Given the description of an element on the screen output the (x, y) to click on. 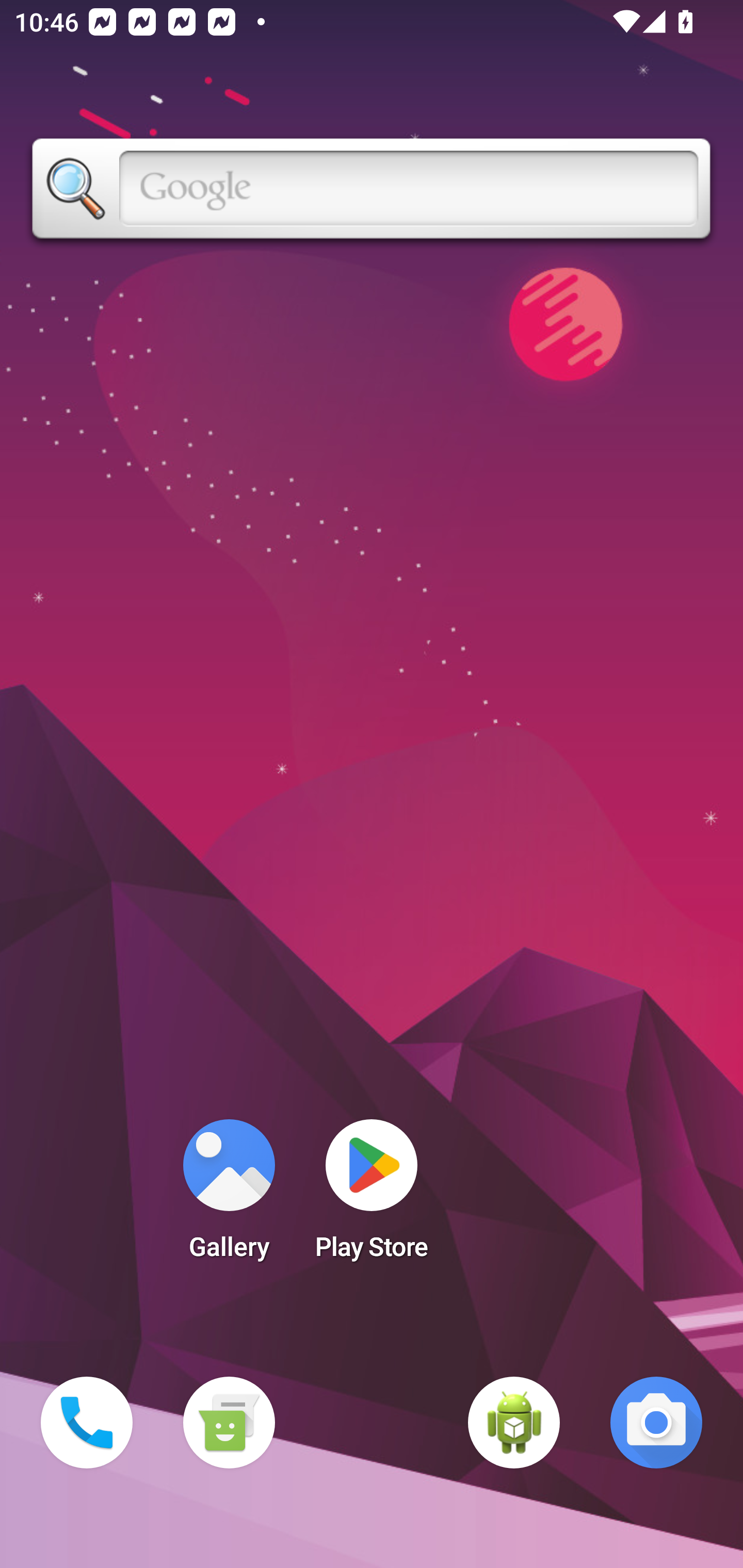
Gallery (228, 1195)
Play Store (371, 1195)
Phone (86, 1422)
Messaging (228, 1422)
WebView Browser Tester (513, 1422)
Camera (656, 1422)
